Given the description of an element on the screen output the (x, y) to click on. 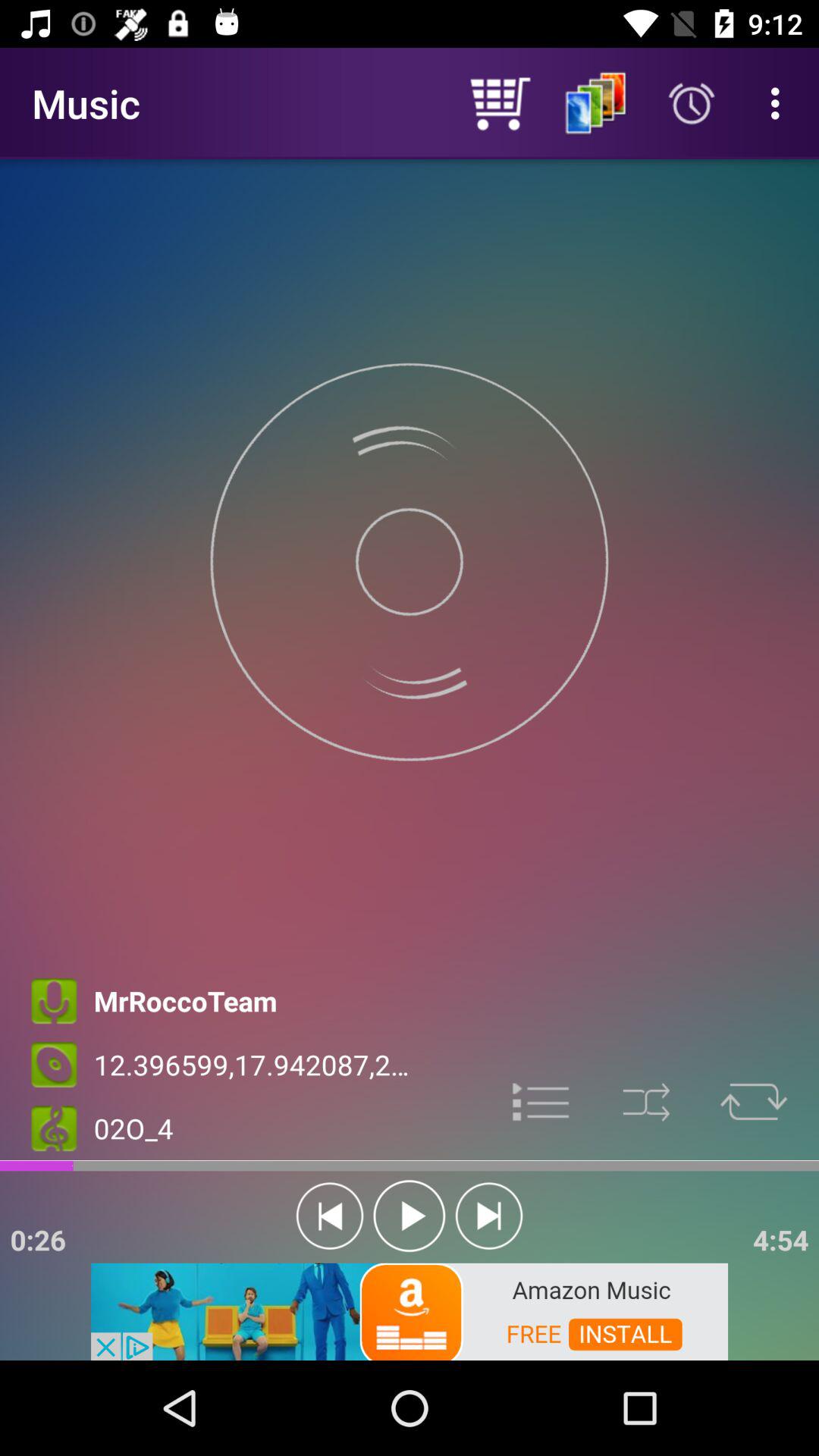
play (409, 1215)
